Given the description of an element on the screen output the (x, y) to click on. 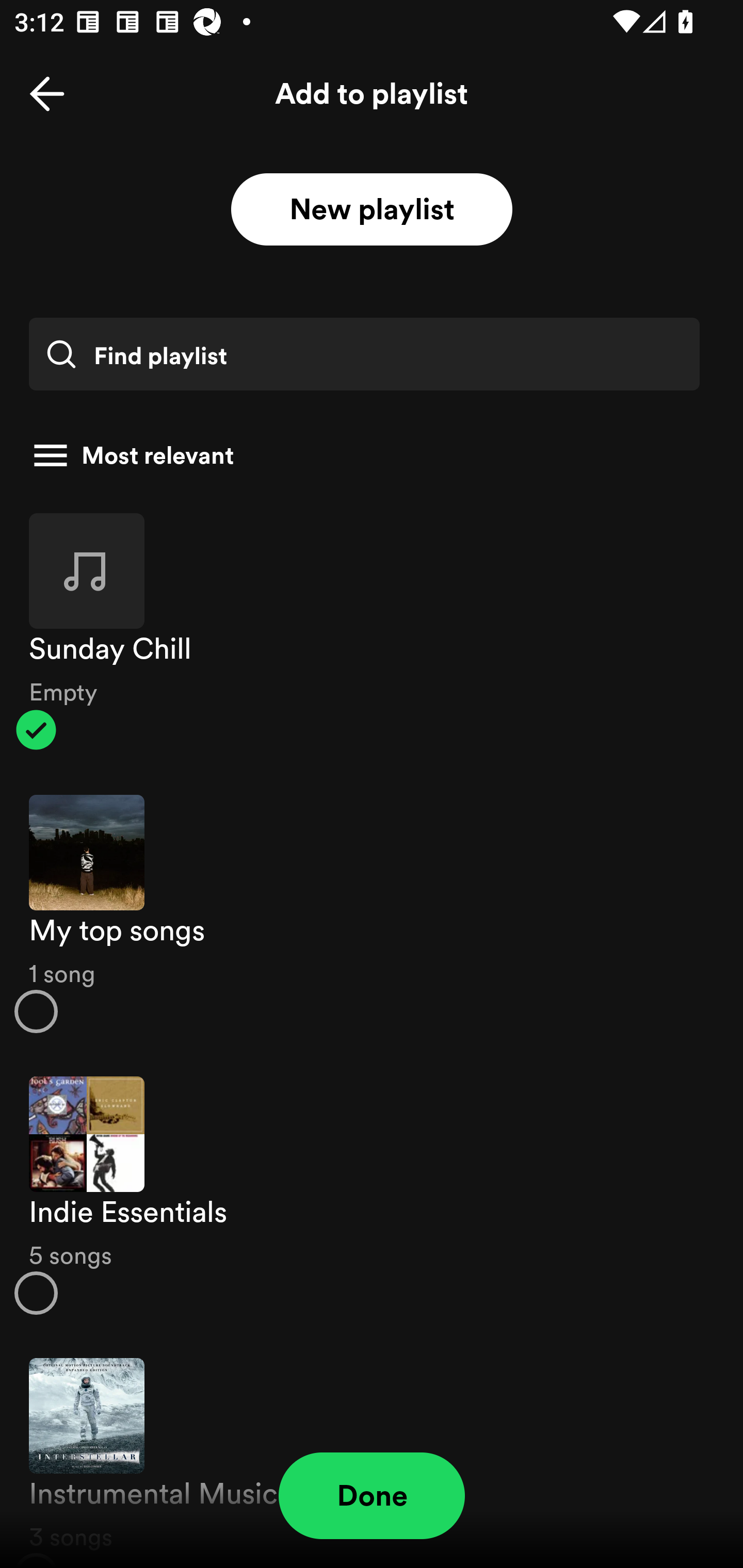
Back (46, 93)
New playlist (371, 210)
Find playlist (363, 354)
Most relevant (363, 455)
Sunday Chill Empty (371, 631)
My top songs 1 song (371, 914)
Indie Essentials 5 songs (371, 1195)
Instrumental Music 3 songs (371, 1451)
Done (371, 1495)
